Given the description of an element on the screen output the (x, y) to click on. 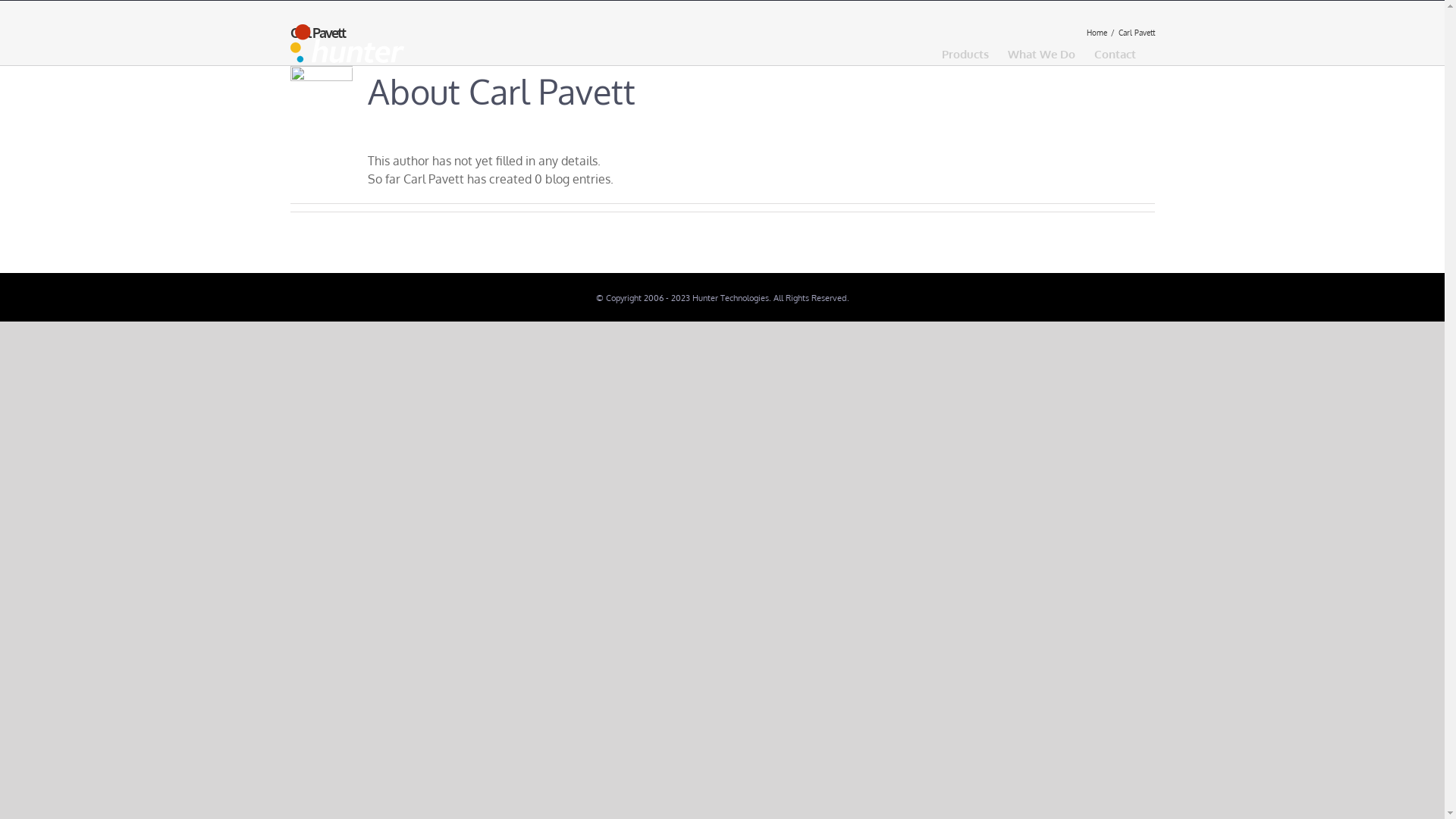
Contact Element type: text (1114, 53)
What We Do Element type: text (1040, 53)
Home Element type: text (1095, 32)
Products Element type: text (964, 53)
